Given the description of an element on the screen output the (x, y) to click on. 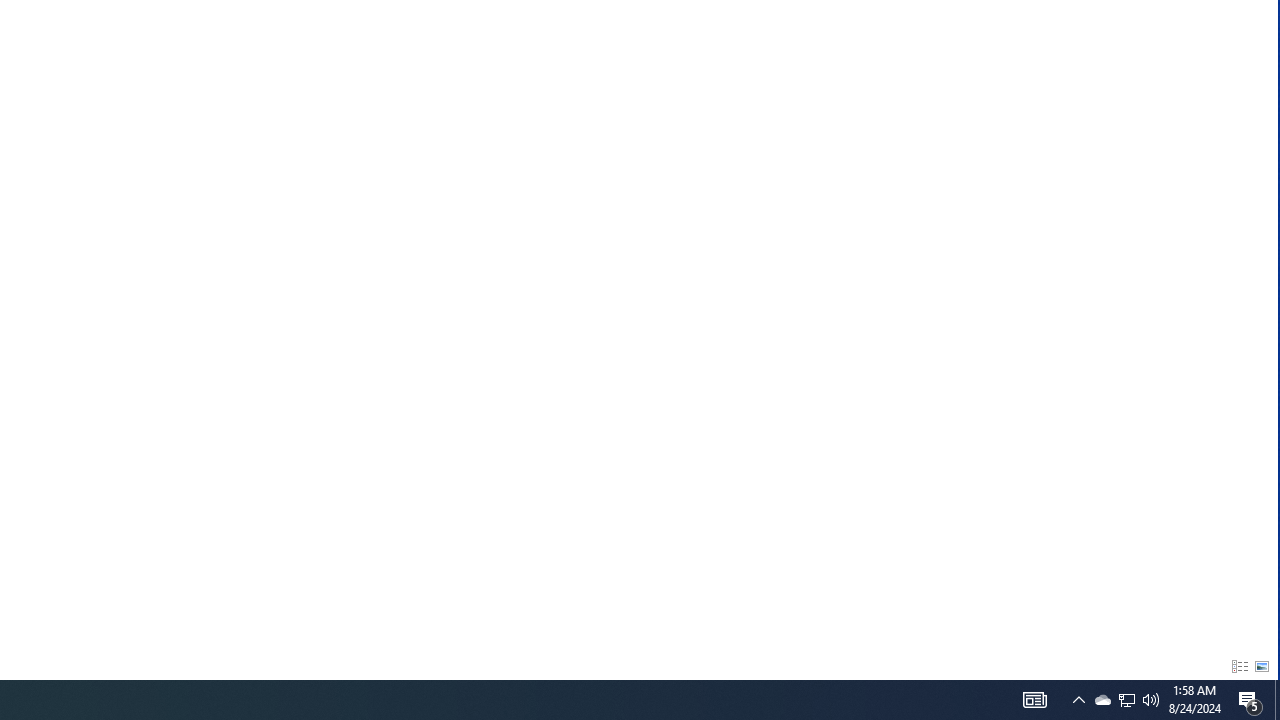
Large Icons (1261, 666)
Details (1239, 666)
